Given the description of an element on the screen output the (x, y) to click on. 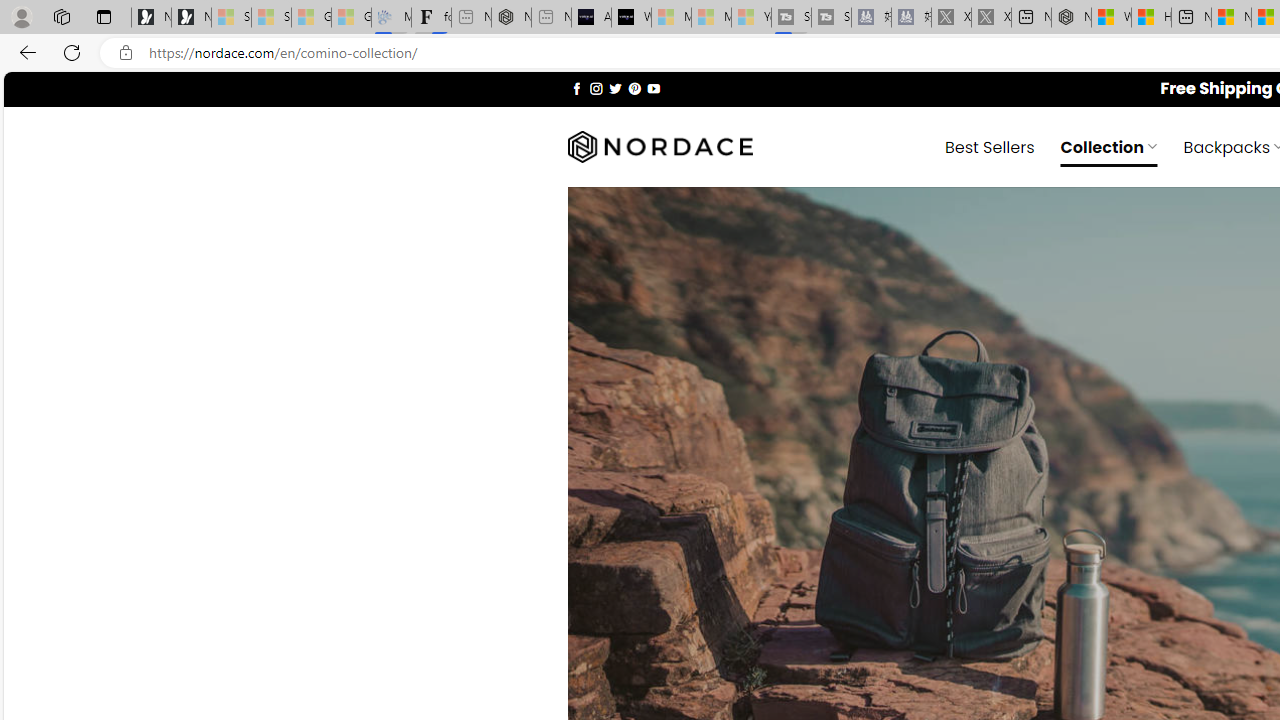
Nordace - My Account (1071, 17)
  Best Sellers (989, 146)
Follow on Facebook (576, 88)
Follow on Twitter (615, 88)
X - Sleeping (991, 17)
